Given the description of an element on the screen output the (x, y) to click on. 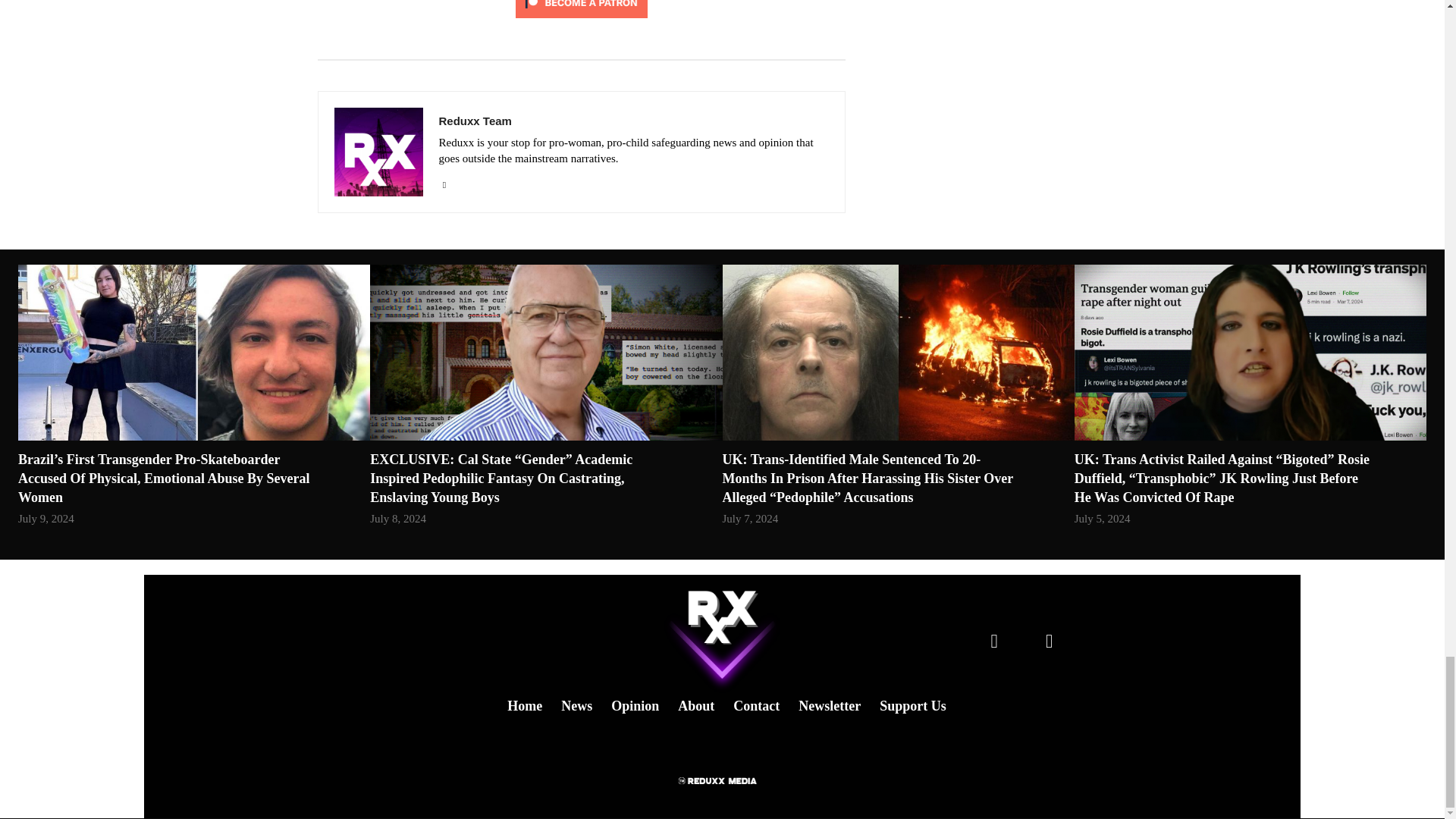
Reduxx Team (633, 119)
Reduxx Team (377, 151)
